Given the description of an element on the screen output the (x, y) to click on. 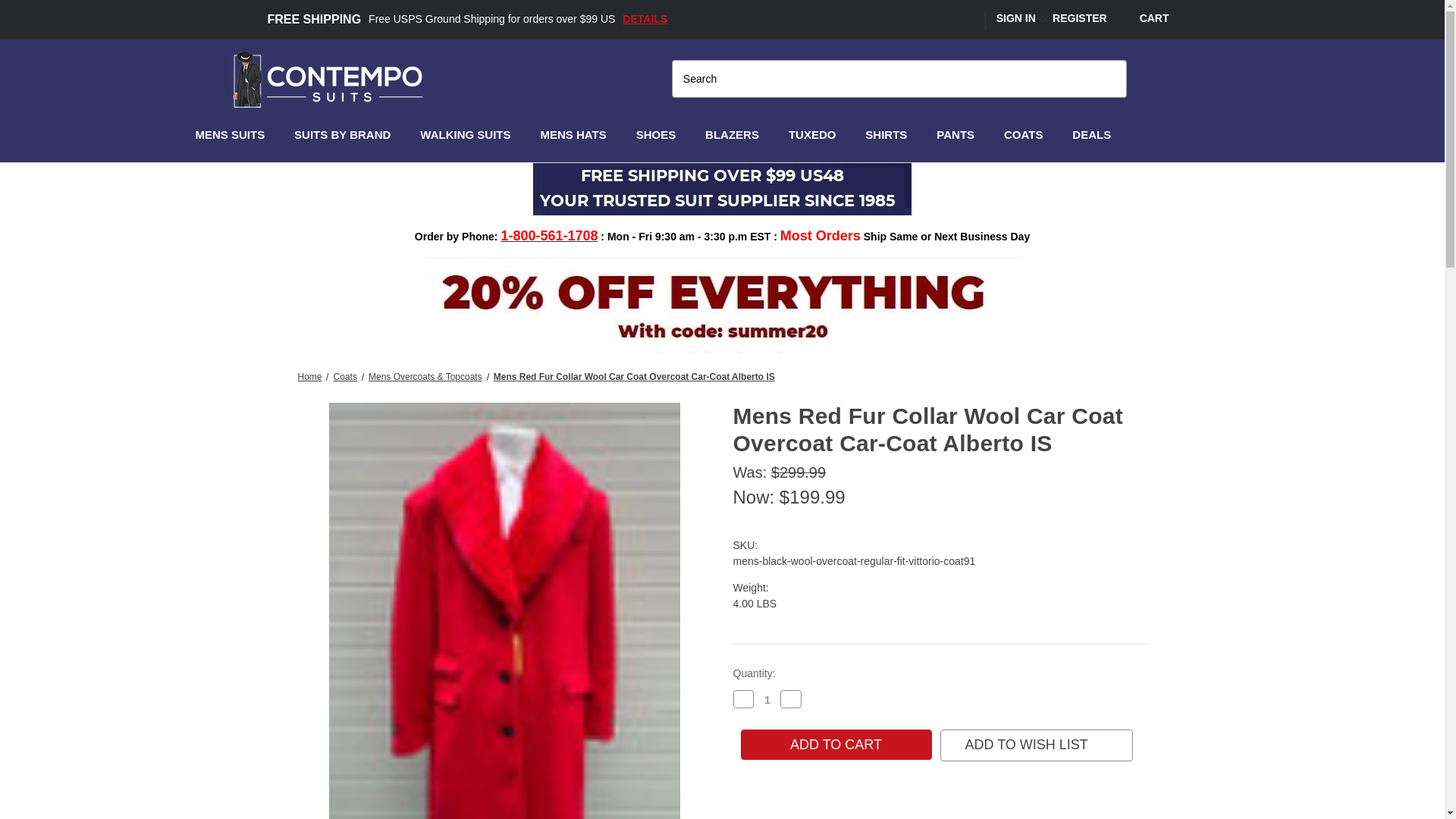
Contempo Suits (327, 78)
1 (767, 698)
DETAILS (644, 19)
REGISTER (1079, 18)
Twitter (915, 20)
MENS SUITS (236, 134)
Instagram (942, 20)
Add to Cart (835, 744)
Pinterest (968, 20)
Print (793, 814)
Pinterest (845, 814)
Facebook (888, 20)
CART (1143, 18)
Facebook (740, 814)
